Given the description of an element on the screen output the (x, y) to click on. 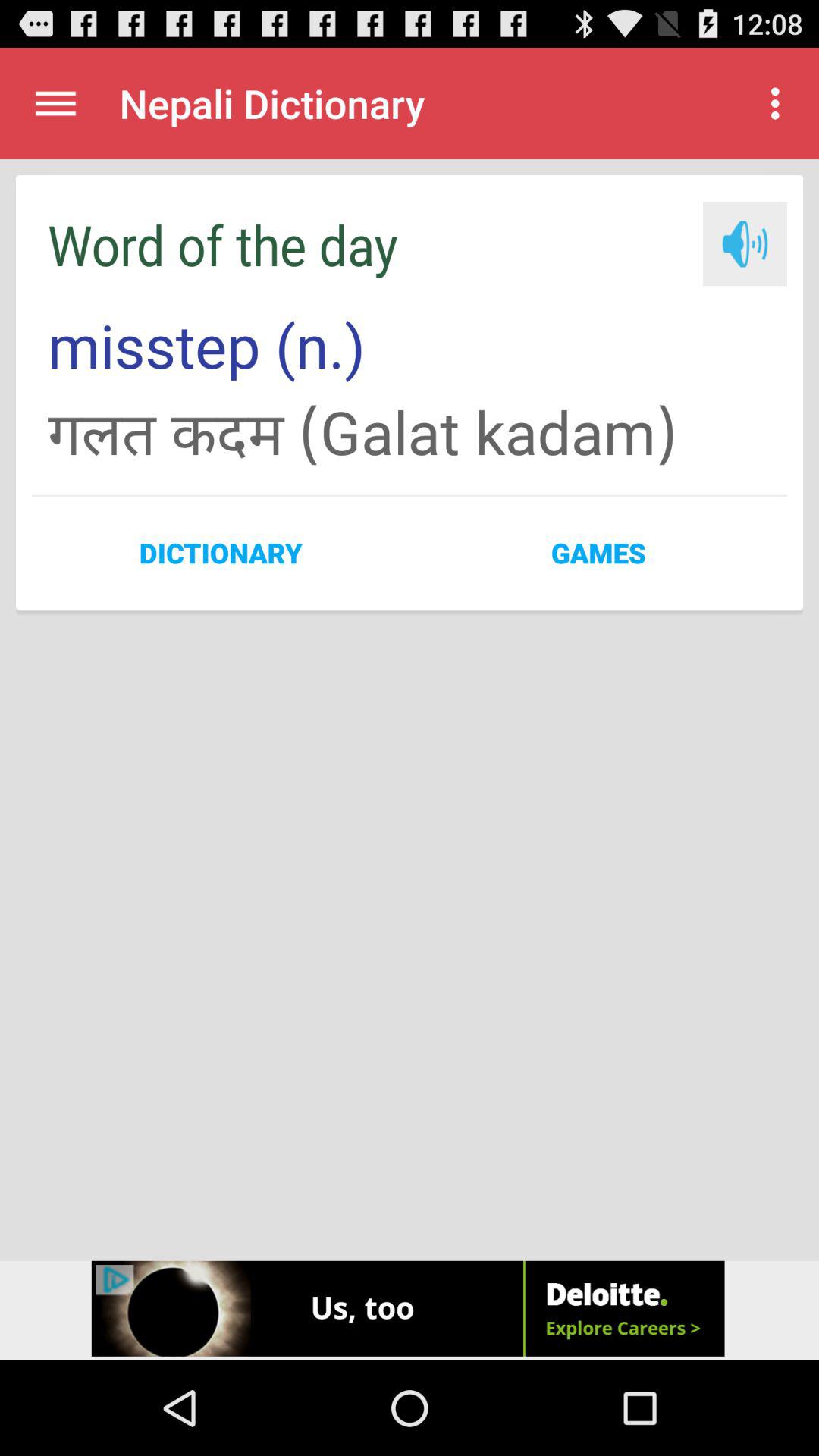
click advertisement (409, 1310)
